Given the description of an element on the screen output the (x, y) to click on. 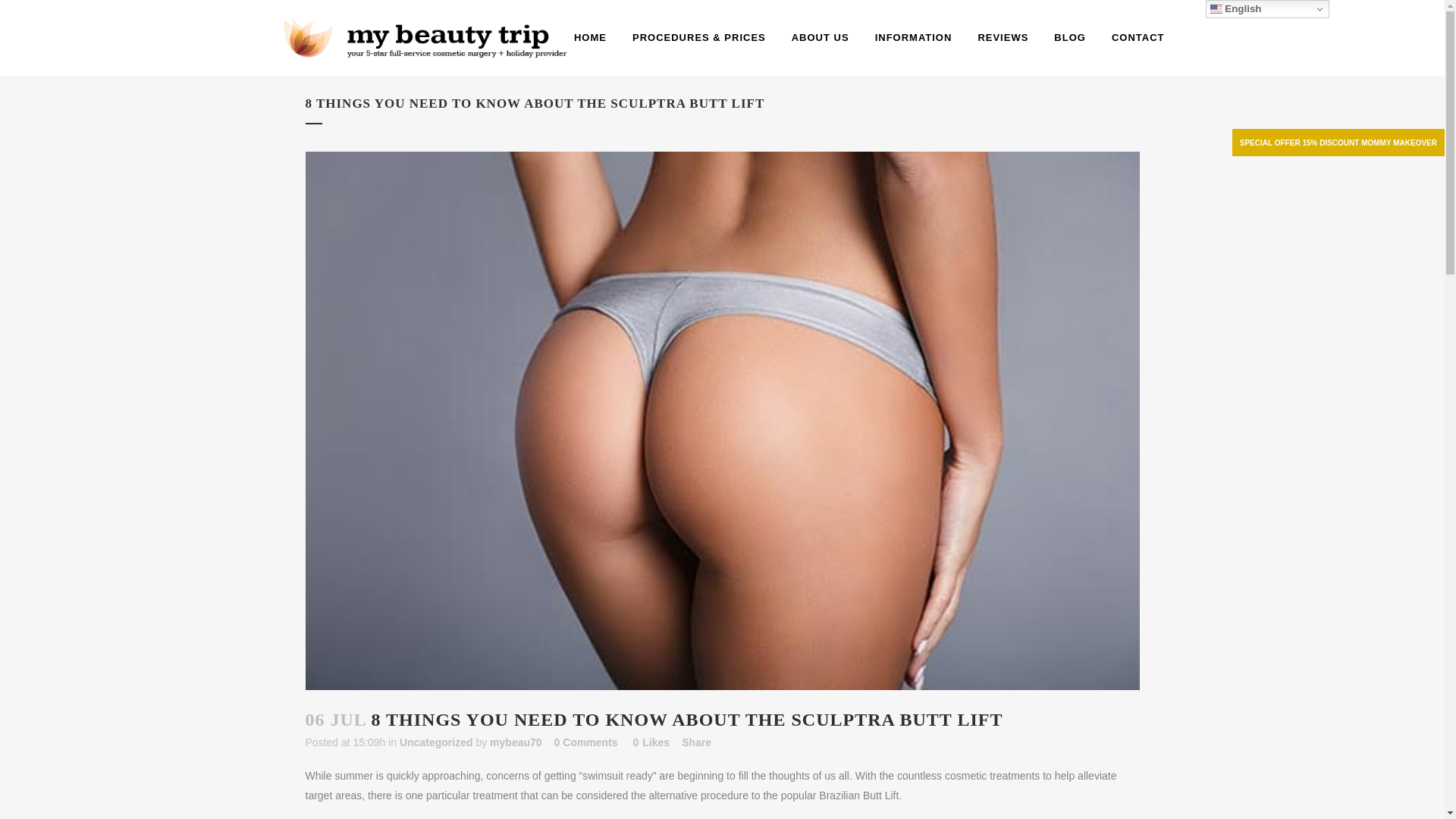
Like this (651, 742)
INFORMATION (913, 38)
REVIEWS (1002, 38)
CONTACT (1138, 38)
ABOUT US (819, 38)
